Given the description of an element on the screen output the (x, y) to click on. 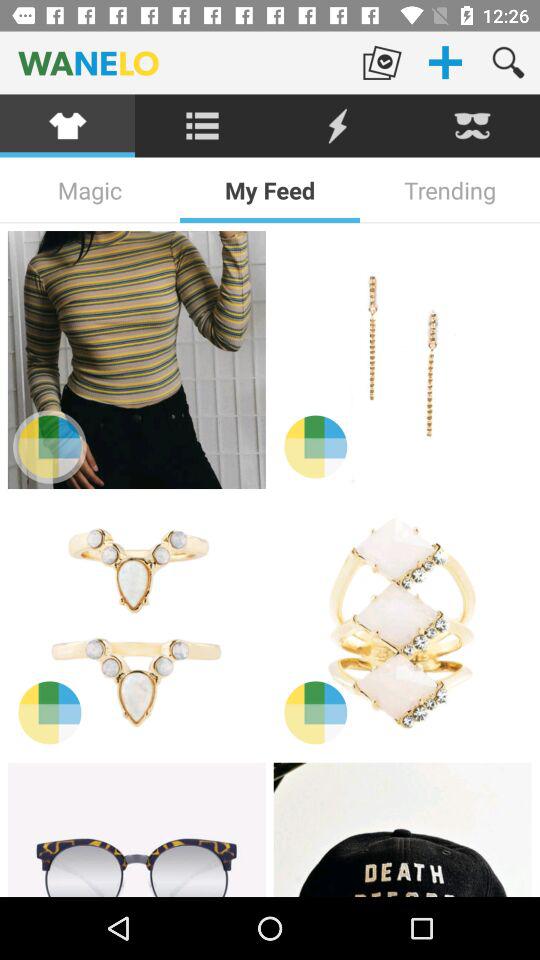
press the icon to the right of the magic (270, 190)
